Given the description of an element on the screen output the (x, y) to click on. 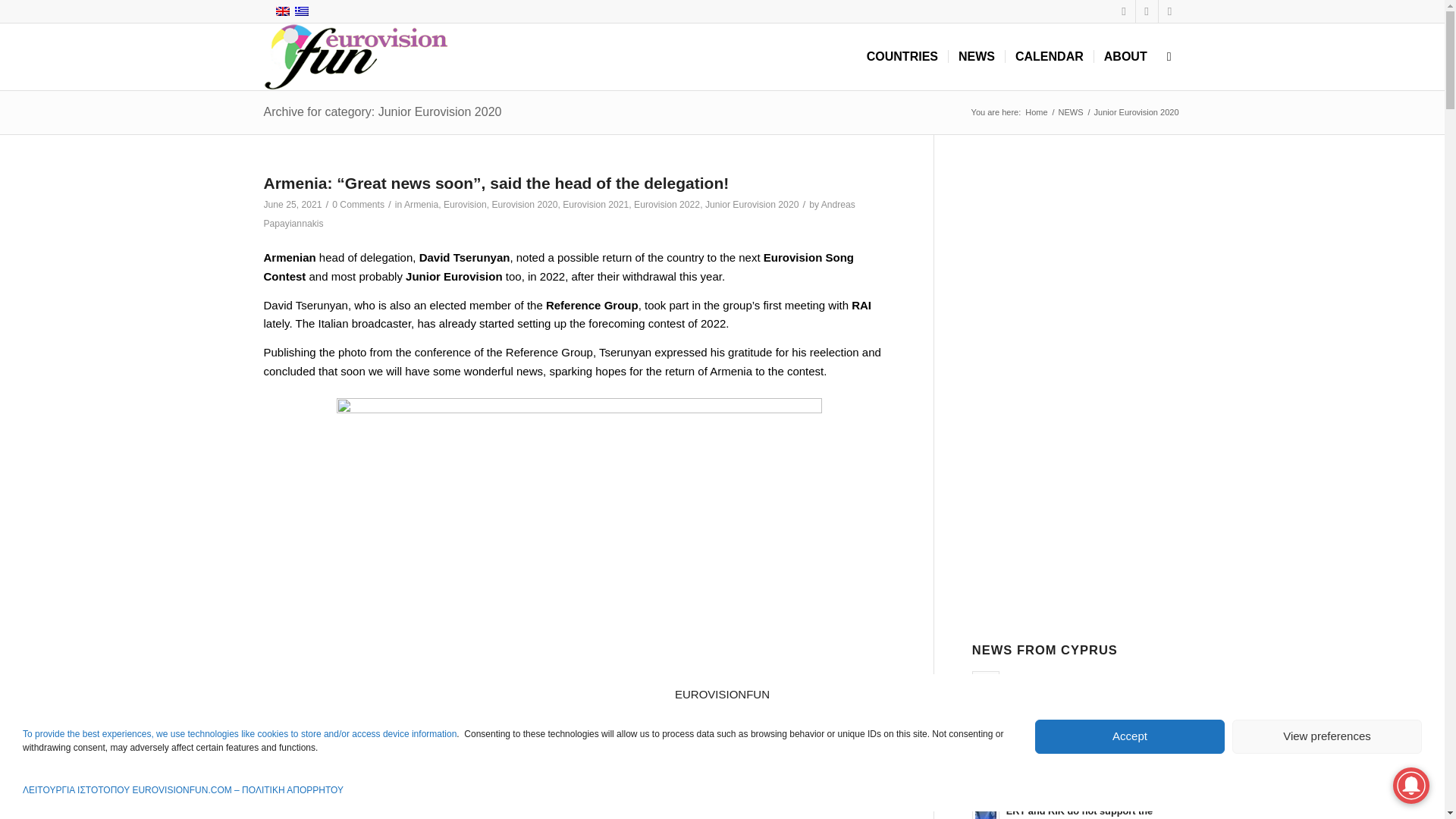
Permanent Link: Archive for category: Junior Eurovision 2020 (382, 111)
Accept (1129, 736)
Facebook (1124, 11)
NEWS (1071, 112)
View preferences (1326, 736)
COUNTRIES (902, 56)
English (282, 10)
eurovision-fun-transparent-logo (355, 56)
Posts by Andreas Papayiannakis (559, 214)
Instagram (1169, 11)
X (1146, 11)
